Given the description of an element on the screen output the (x, y) to click on. 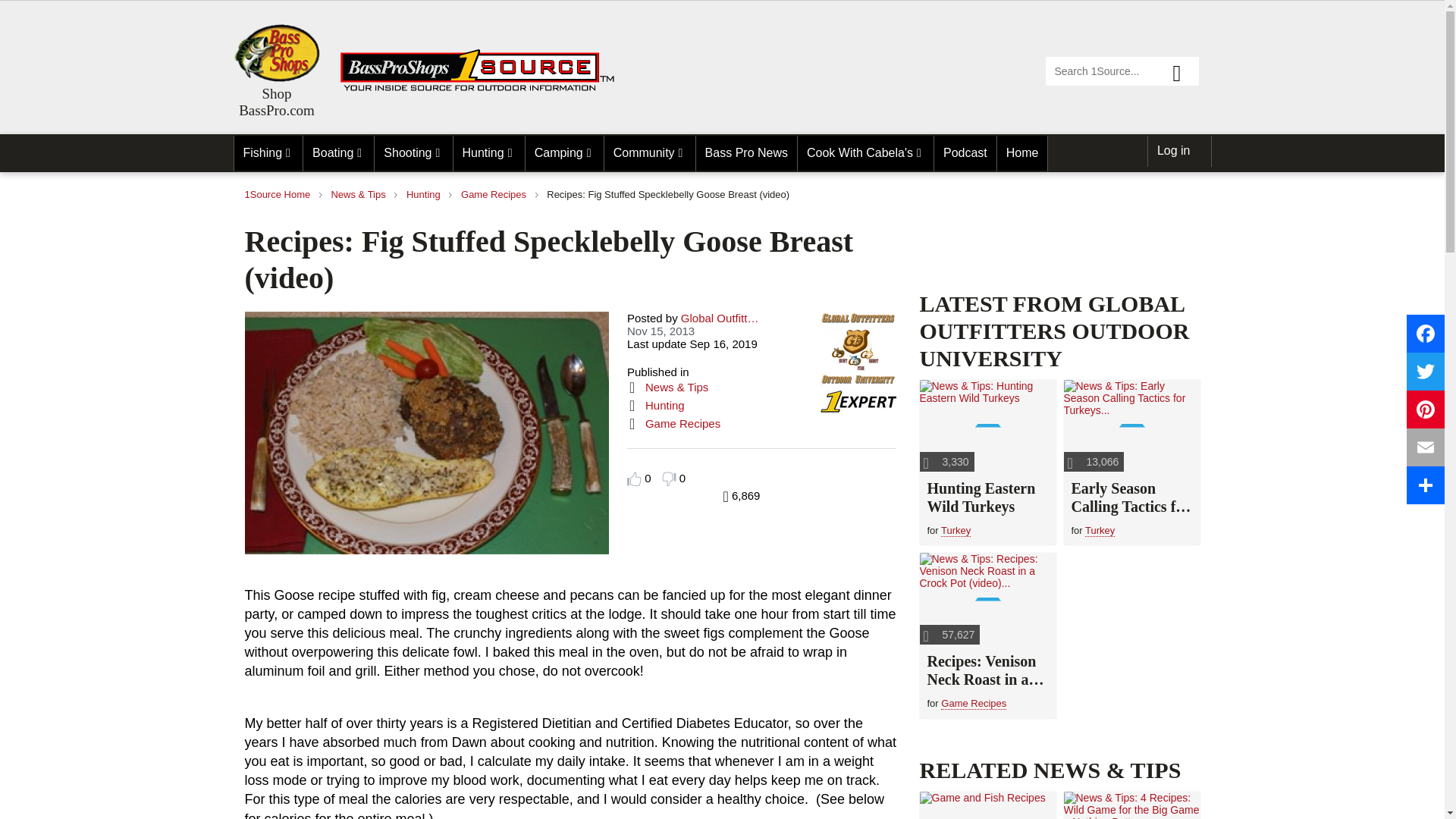
Shop BassPro.com (276, 52)
Search (1183, 71)
Shooting (413, 153)
Enter the terms you wish to search for. (1121, 70)
Shop BassPro.com (276, 101)
Fishing (268, 153)
Return to Bass Pro 1Source home (483, 88)
Search (1183, 71)
